Given the description of an element on the screen output the (x, y) to click on. 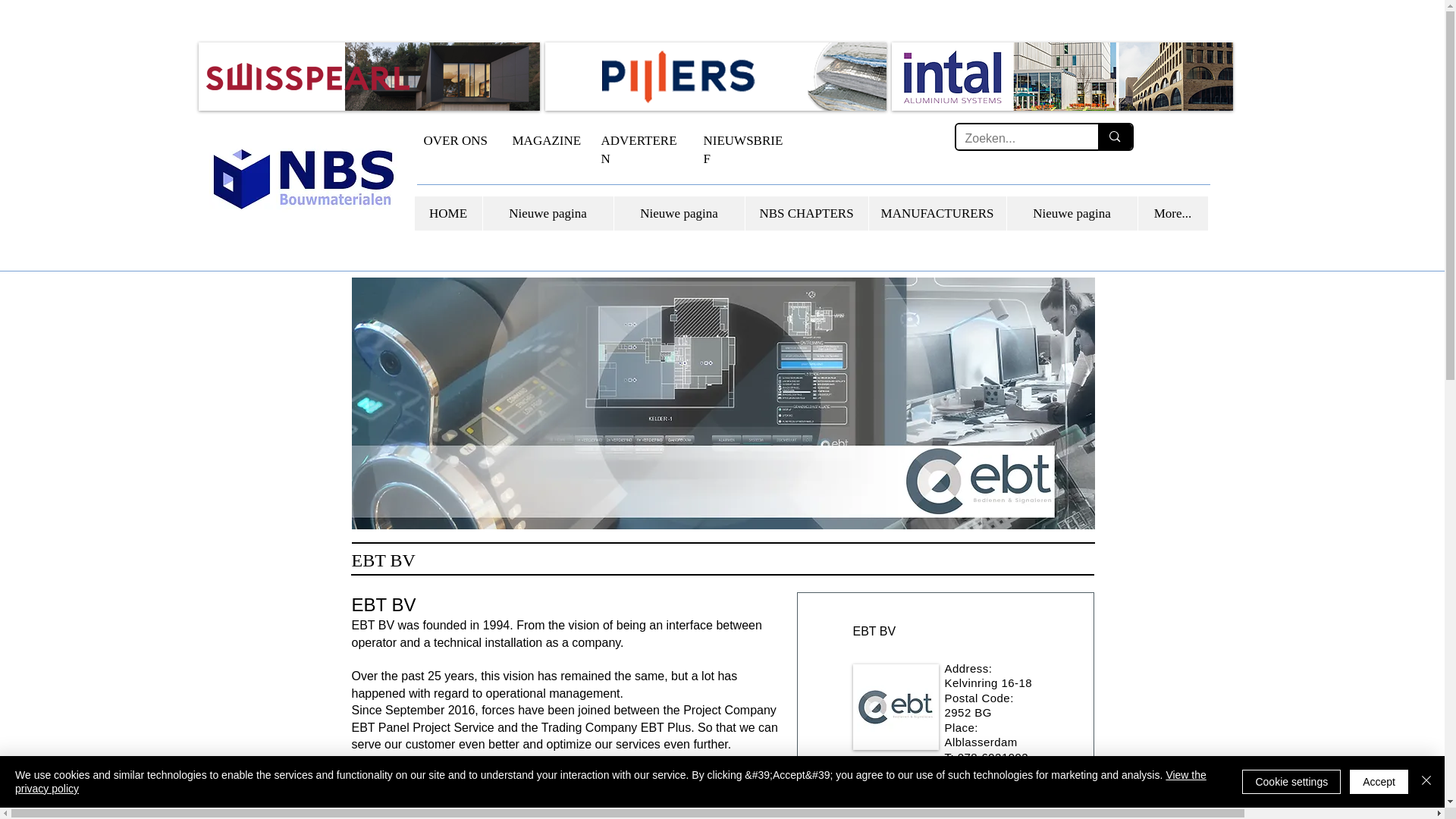
MANUFACTURERS (936, 213)
HOME (447, 213)
OVER ONS (455, 140)
Nieuwe pagina (546, 213)
Nieuwe pagina (1071, 213)
Nieuwe pagina (678, 213)
MAGAZINE (546, 140)
NBS CHAPTERS (805, 213)
